Given the description of an element on the screen output the (x, y) to click on. 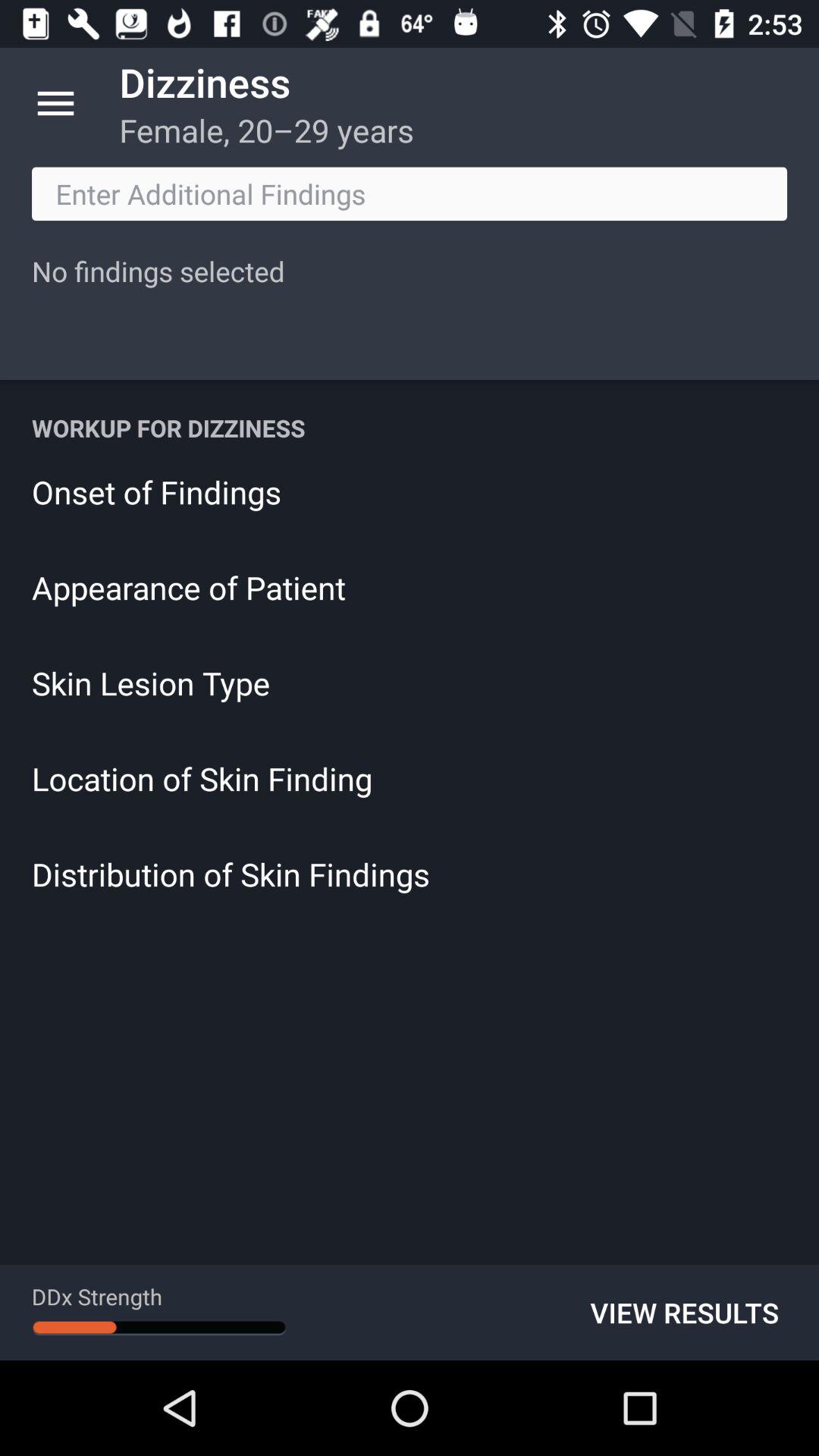
select the view results at the last (684, 1312)
